Given the description of an element on the screen output the (x, y) to click on. 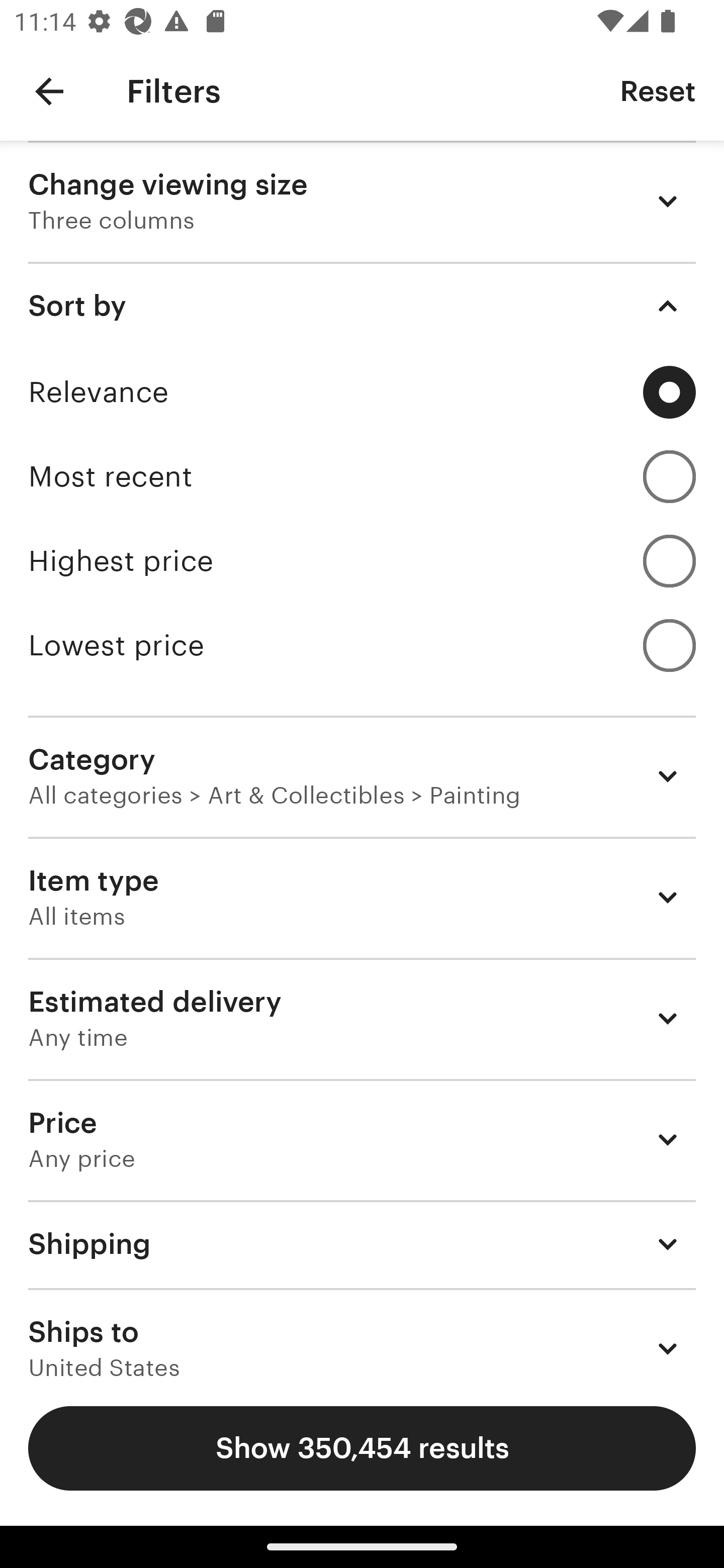
Navigate up (49, 91)
Reset (657, 90)
Change viewing size Three columns (362, 201)
Sort by (362, 305)
Relevance (362, 391)
Most recent (362, 476)
Highest price (362, 561)
Lowest price (362, 644)
Item type All items (362, 897)
Estimated delivery Any time (362, 1018)
Price Any price (362, 1138)
Shipping (362, 1243)
Ships to United States (362, 1332)
Show 350,454 results Show results (361, 1448)
